Given the description of an element on the screen output the (x, y) to click on. 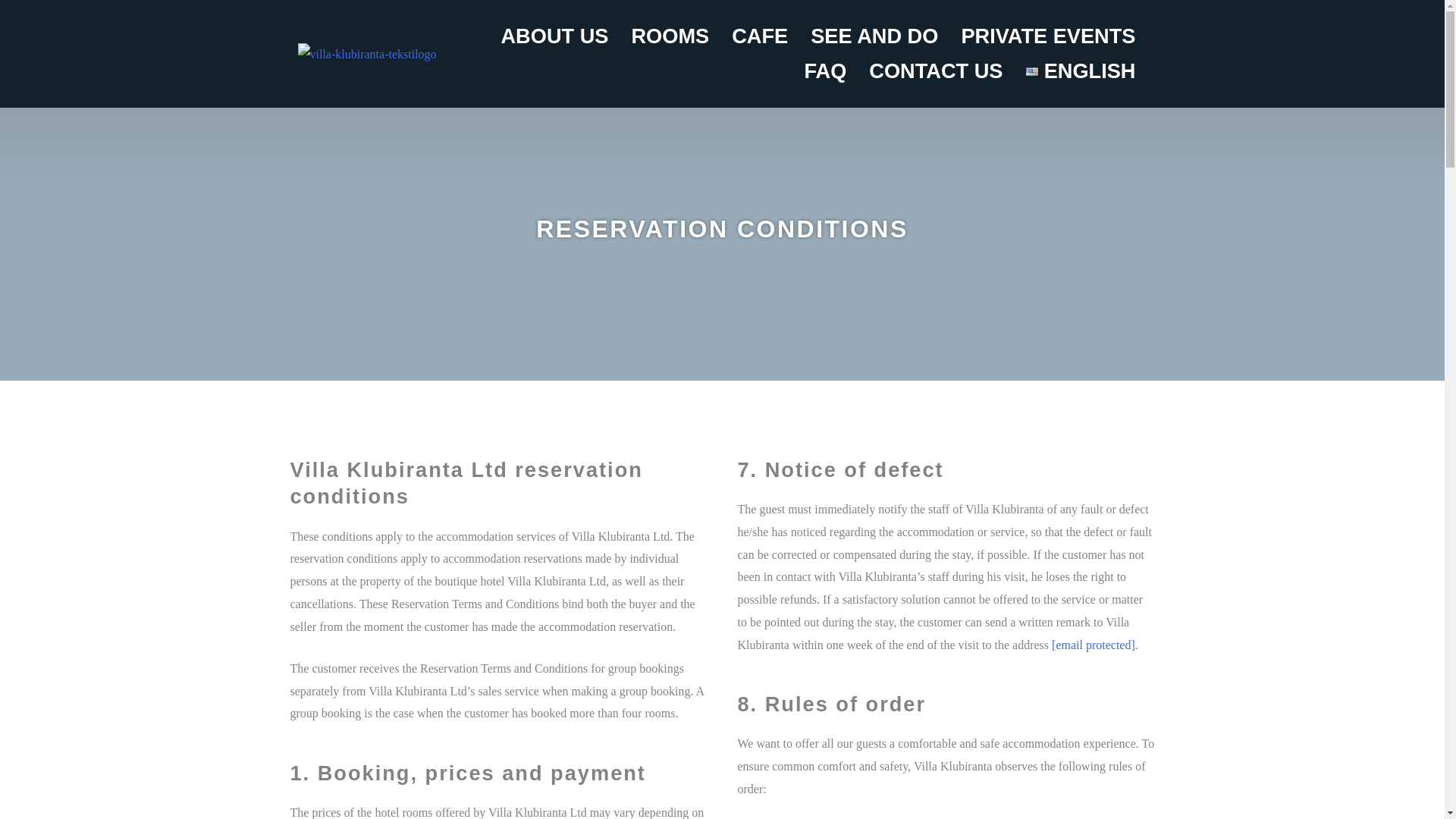
ABOUT US (554, 36)
ENGLISH (1080, 71)
CAFE (759, 36)
CONTACT US (935, 71)
ROOMS (670, 36)
SEE AND DO (874, 36)
PRIVATE EVENTS (1048, 36)
villa-klubiranta-tekstilogo (366, 54)
FAQ (824, 71)
